Given the description of an element on the screen output the (x, y) to click on. 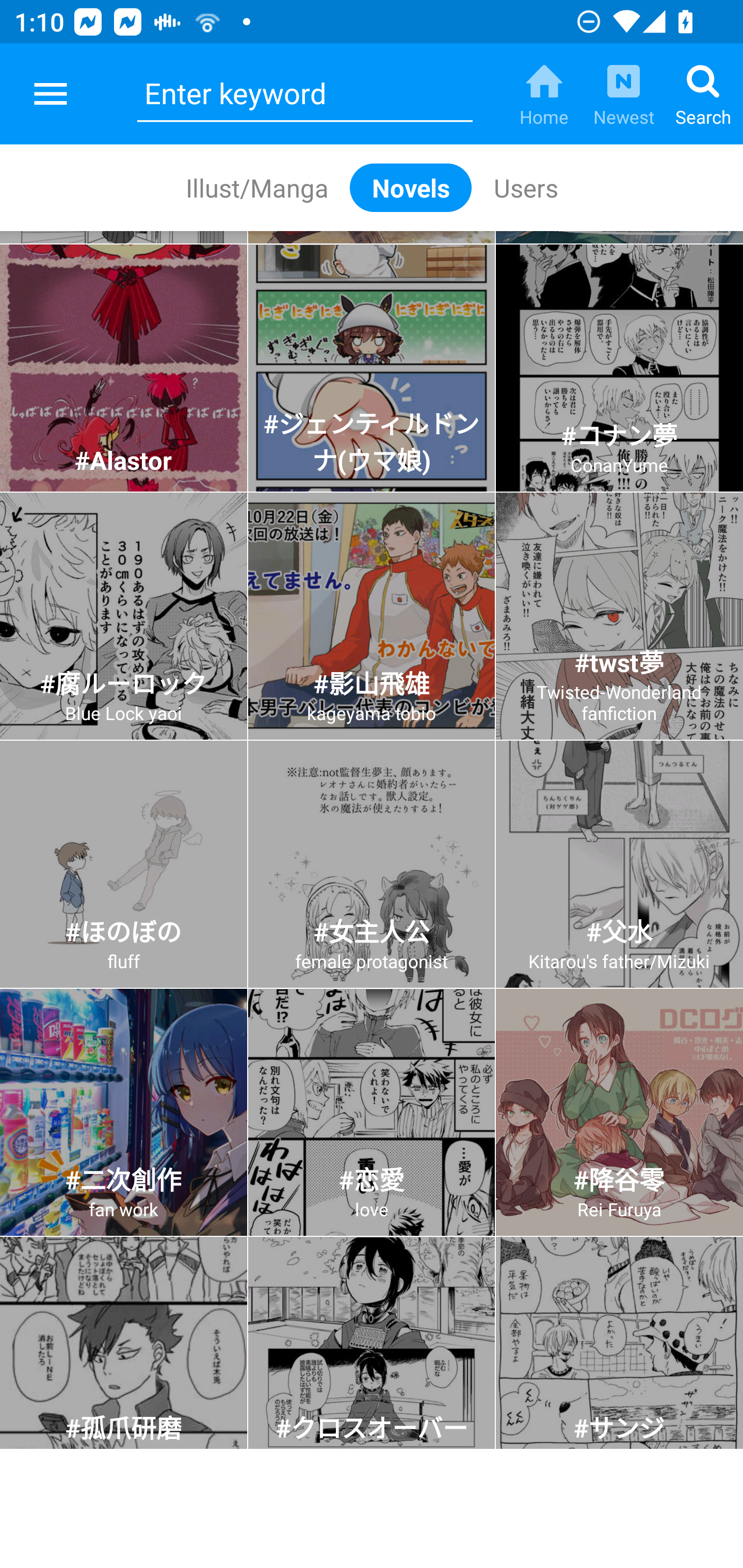
pixiv (50, 93)
Home (543, 93)
Newest (623, 93)
Enter keyword (304, 93)
Illust/Manga (256, 187)
Novels (410, 187)
Users (525, 187)
